Given the description of an element on the screen output the (x, y) to click on. 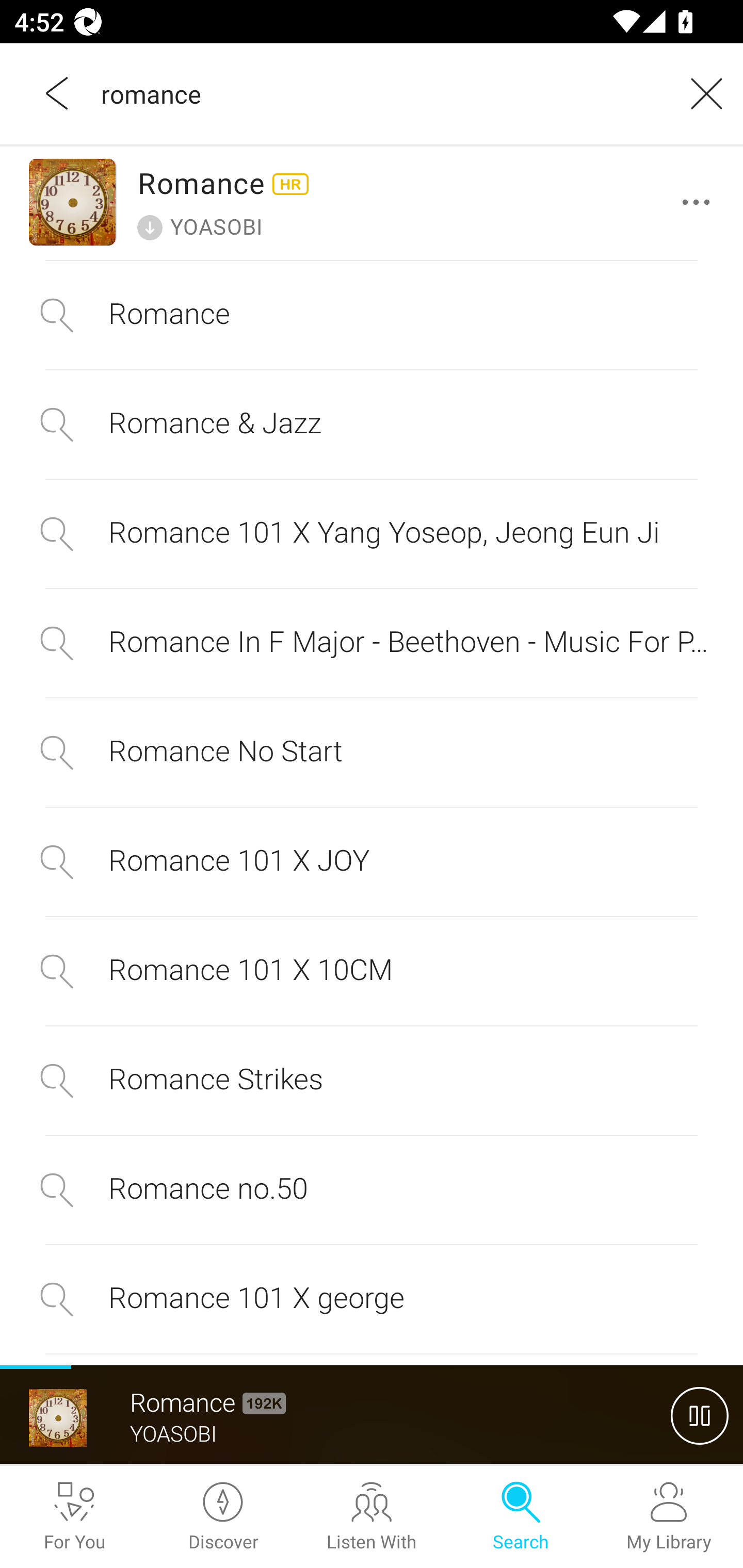
romance (378, 92)
Clear query (699, 92)
Back,outside of the list (57, 93)
Search preview item Romance 已下載 YOASOBI 更多操作選項 (371, 202)
更多操作選項 (699, 202)
Romance (371, 315)
Romance & Jazz (371, 424)
Romance 101 X Yang Yoseop, Jeong Eun Ji (371, 533)
Romance In F Major - Beethoven - Music For Pets (371, 643)
Romance No Start (371, 751)
Romance 101 X JOY (371, 861)
Romance 101 X 10CM (371, 971)
Romance Strikes (371, 1081)
Romance no.50 (371, 1189)
Romance 101 X george (371, 1298)
暫停播放 (699, 1415)
For You (74, 1517)
Discover (222, 1517)
Listen With (371, 1517)
Search (519, 1517)
My Library (668, 1517)
